Given the description of an element on the screen output the (x, y) to click on. 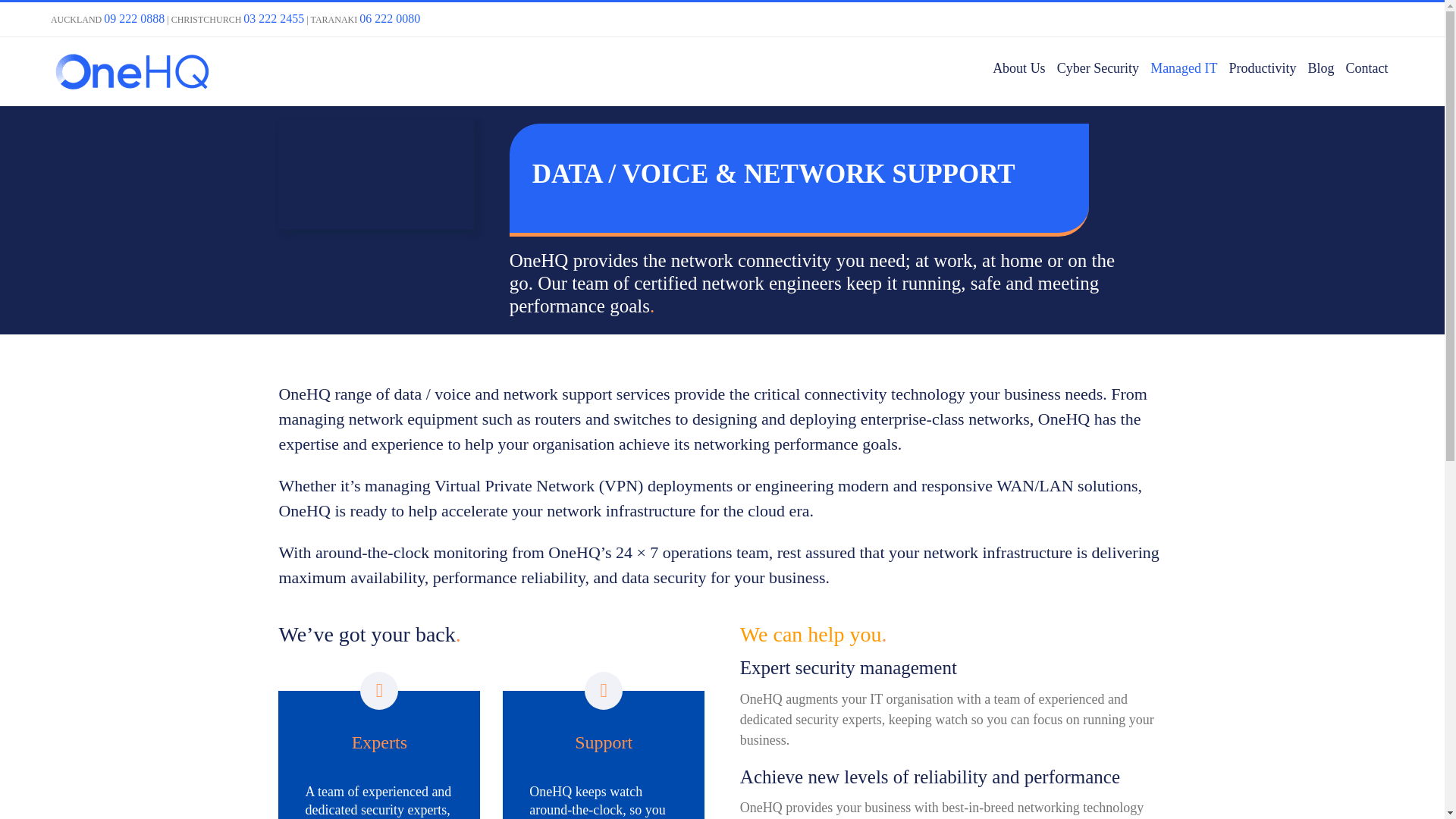
Managed IT (1183, 68)
Contact (1366, 68)
Cyber Security (1097, 68)
CHRISTCHURCH 03 222 2455 (237, 19)
Productivity (1262, 68)
AUCKLAND 09 222 0888 (107, 19)
About Us (1019, 68)
TARANAKI 06 222 0080 (365, 19)
